Given the description of an element on the screen output the (x, y) to click on. 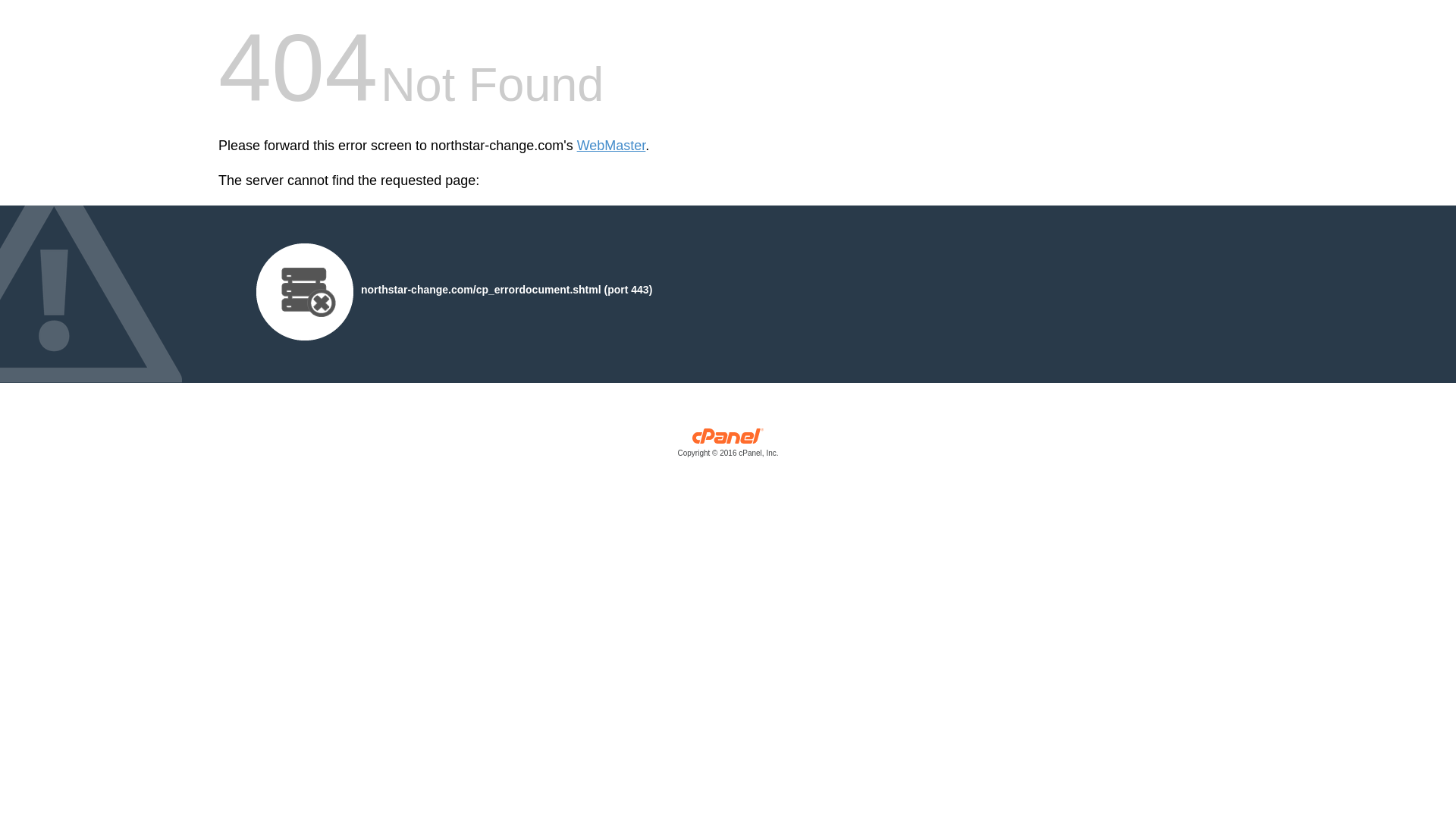
cPanel, Inc. (727, 446)
WebMaster (611, 145)
